Given the description of an element on the screen output the (x, y) to click on. 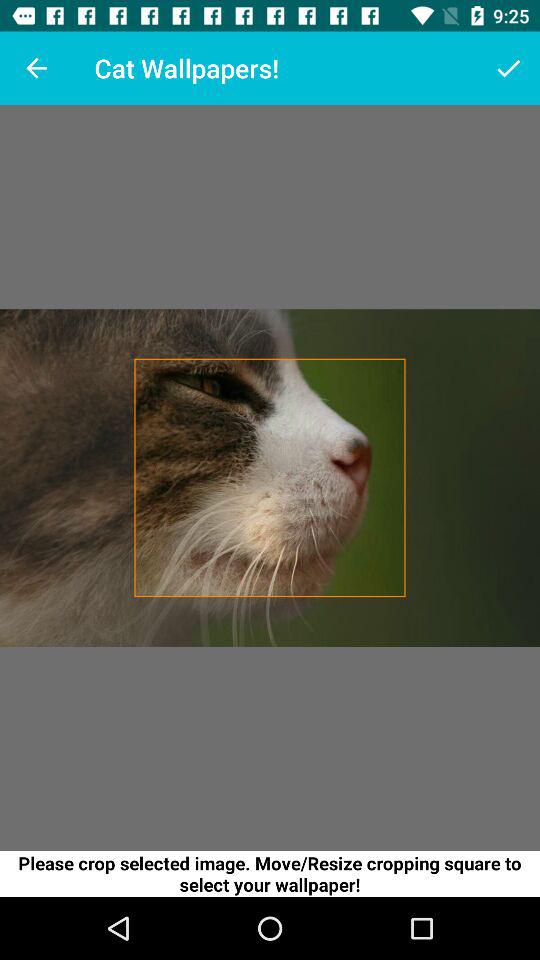
turn on item to the right of the cat wallpapers! (508, 67)
